Given the description of an element on the screen output the (x, y) to click on. 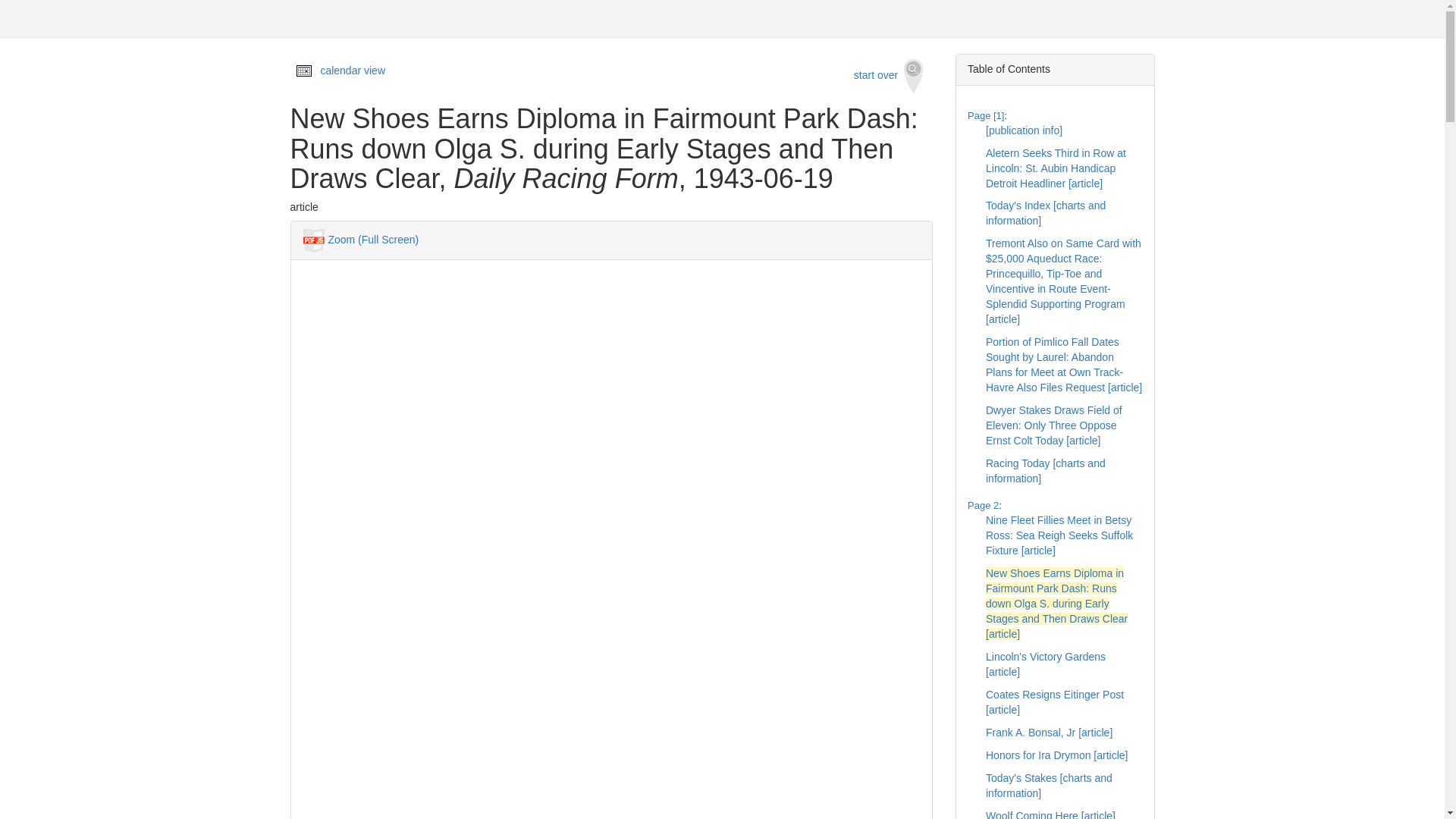
calendar view (352, 70)
Page 2 (983, 505)
start over   (888, 76)
